Given the description of an element on the screen output the (x, y) to click on. 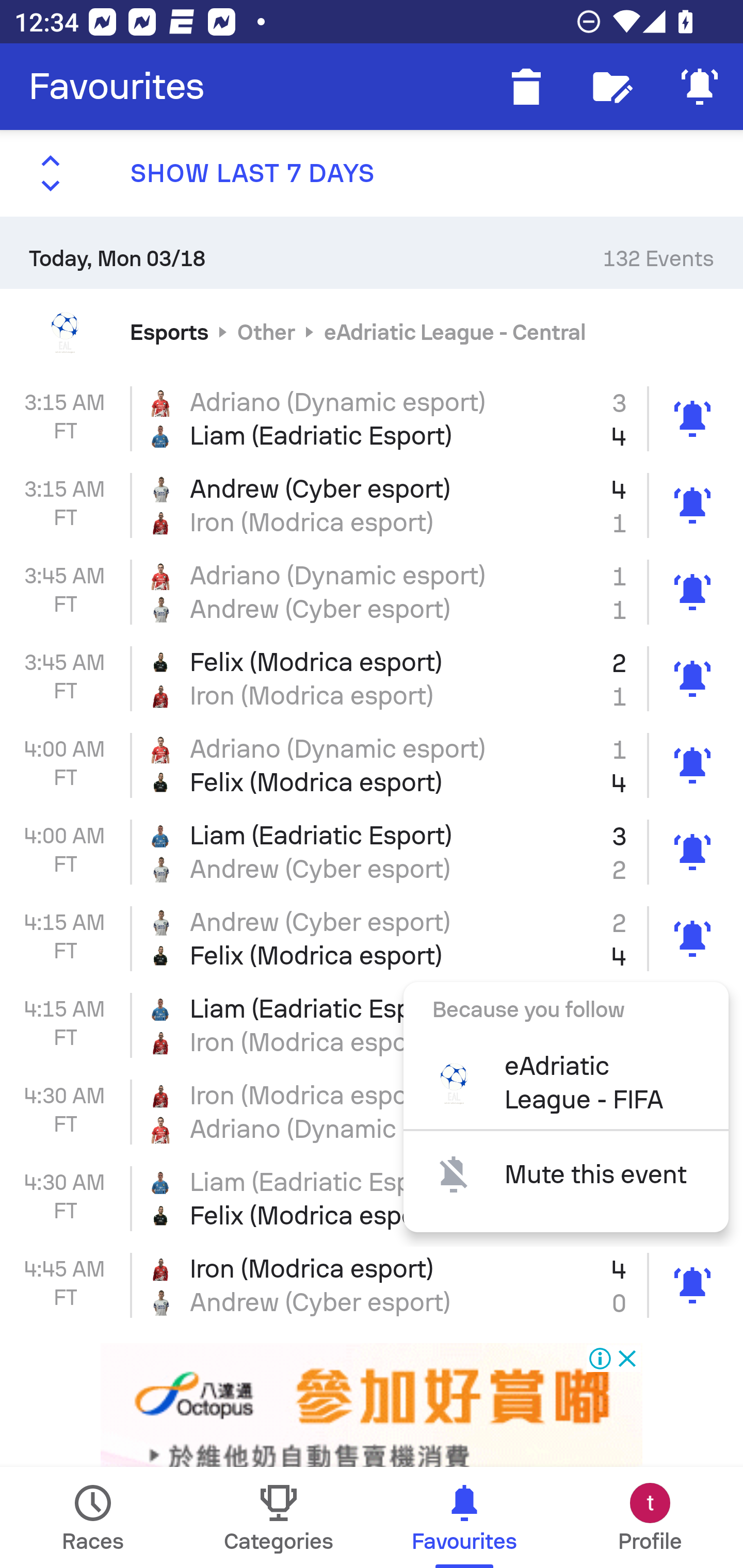
eAdriatic League - FIFA (565, 1082)
Mute this event (565, 1174)
